Given the description of an element on the screen output the (x, y) to click on. 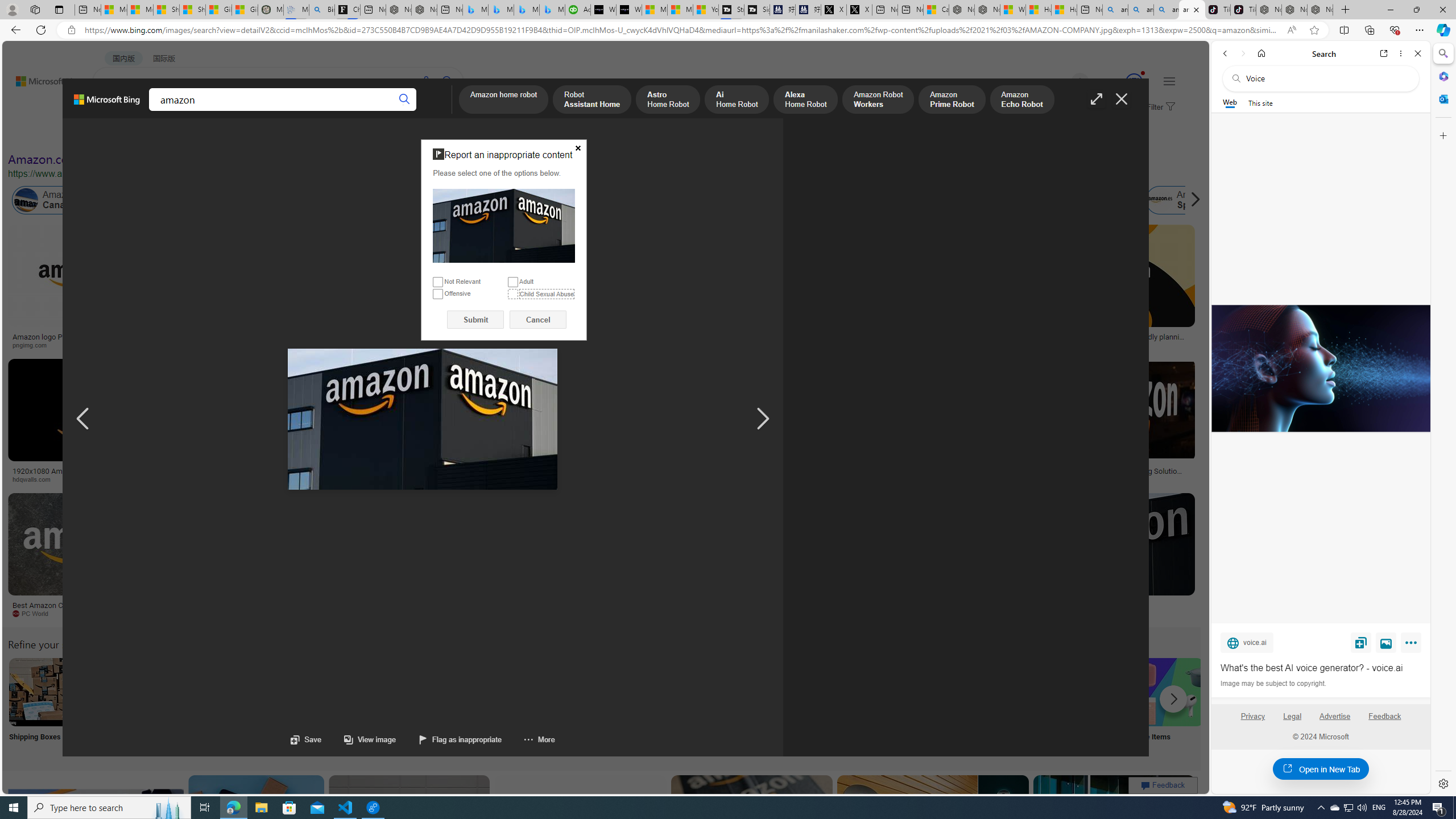
mobilemarketingmagazine.com (1099, 479)
Amazon.com.au (923, 199)
Streaming Coverage | T3 (730, 9)
Class: b_pri_nav_svg (191, 112)
Amazon Animals (426, 199)
Child Sexual Abuse (512, 293)
Amazon Online Store (644, 691)
Cancel (537, 319)
protothema.gr (1105, 613)
